Given the description of an element on the screen output the (x, y) to click on. 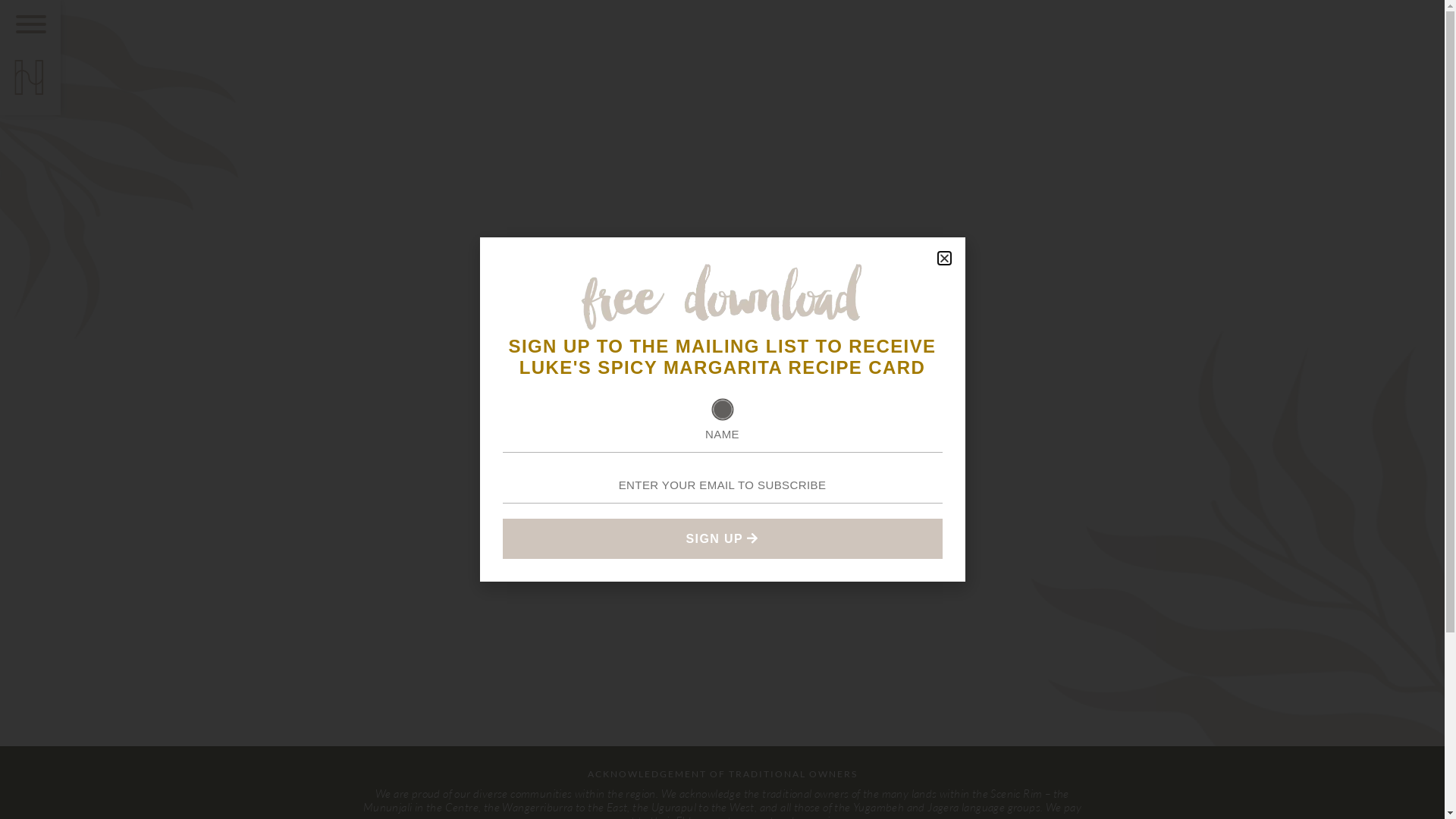
BACK TO HOMEPAGE Element type: text (722, 452)
SIGN UP Element type: text (721, 538)
